Given the description of an element on the screen output the (x, y) to click on. 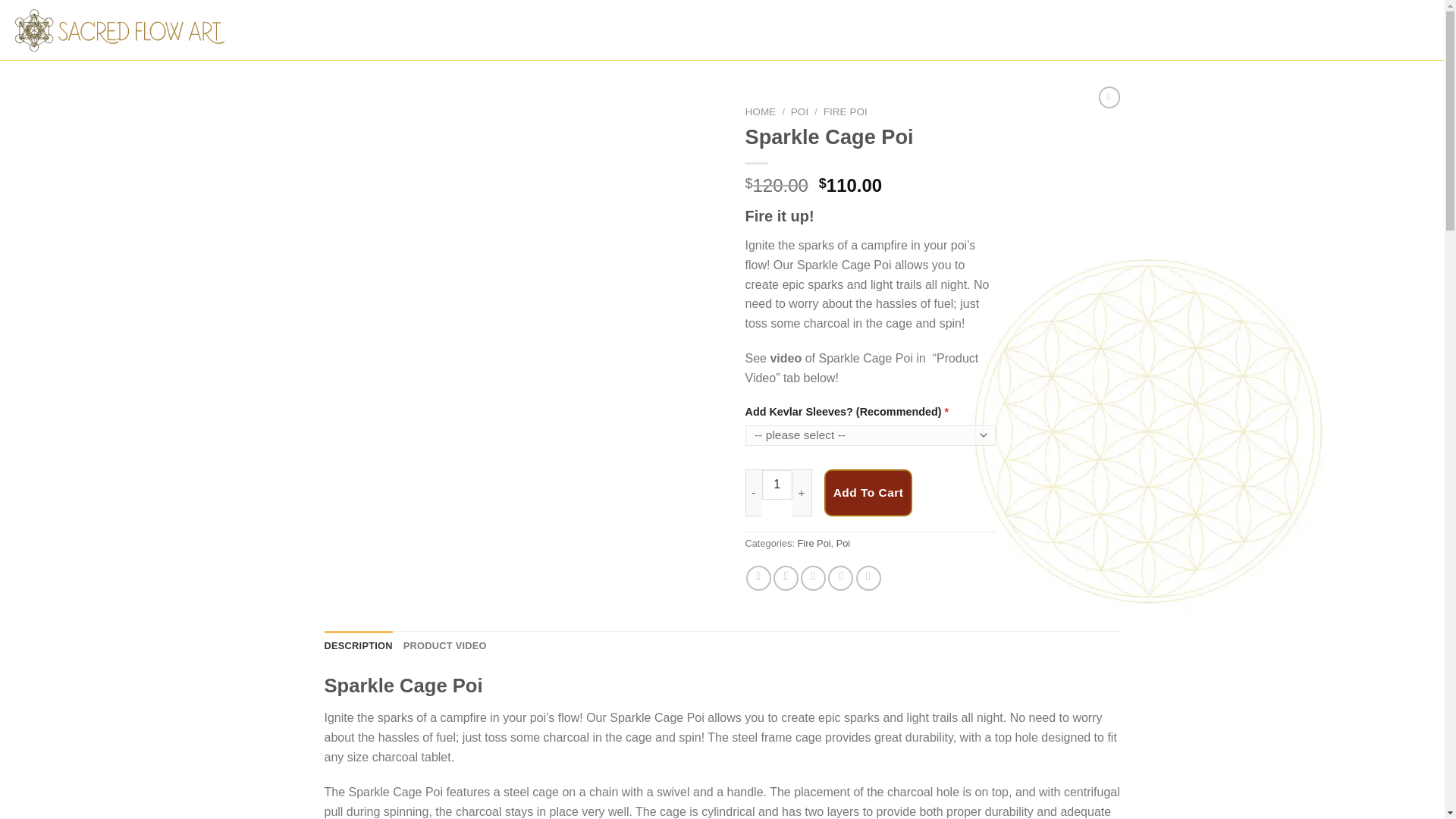
1 (776, 484)
Fire Poi (814, 542)
Sacred Flow Art - Follow your Flow (121, 30)
POI (799, 111)
Login (1291, 29)
SHOP ALL PROPS (384, 29)
Share on Facebook (758, 577)
Share on LinkedIn (868, 577)
Pin on Pinterest (840, 577)
FLOW ARTS TUTORIALS (510, 29)
HOME (760, 111)
Cart (1387, 30)
CONTACT US (669, 29)
HOME (302, 29)
Share on Twitter (785, 577)
